Given the description of an element on the screen output the (x, y) to click on. 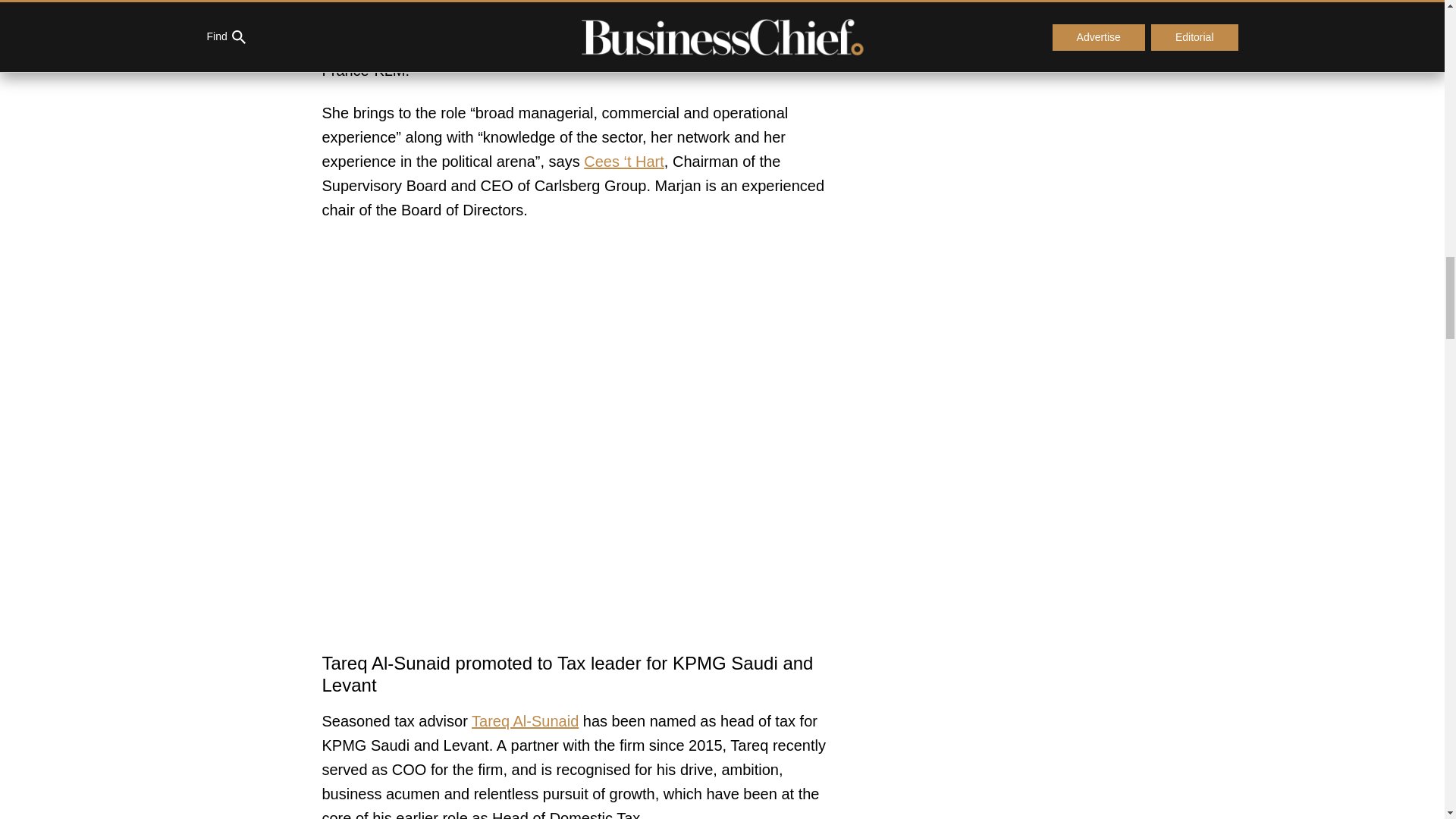
Tareq Al-Sunaid (524, 720)
